Given the description of an element on the screen output the (x, y) to click on. 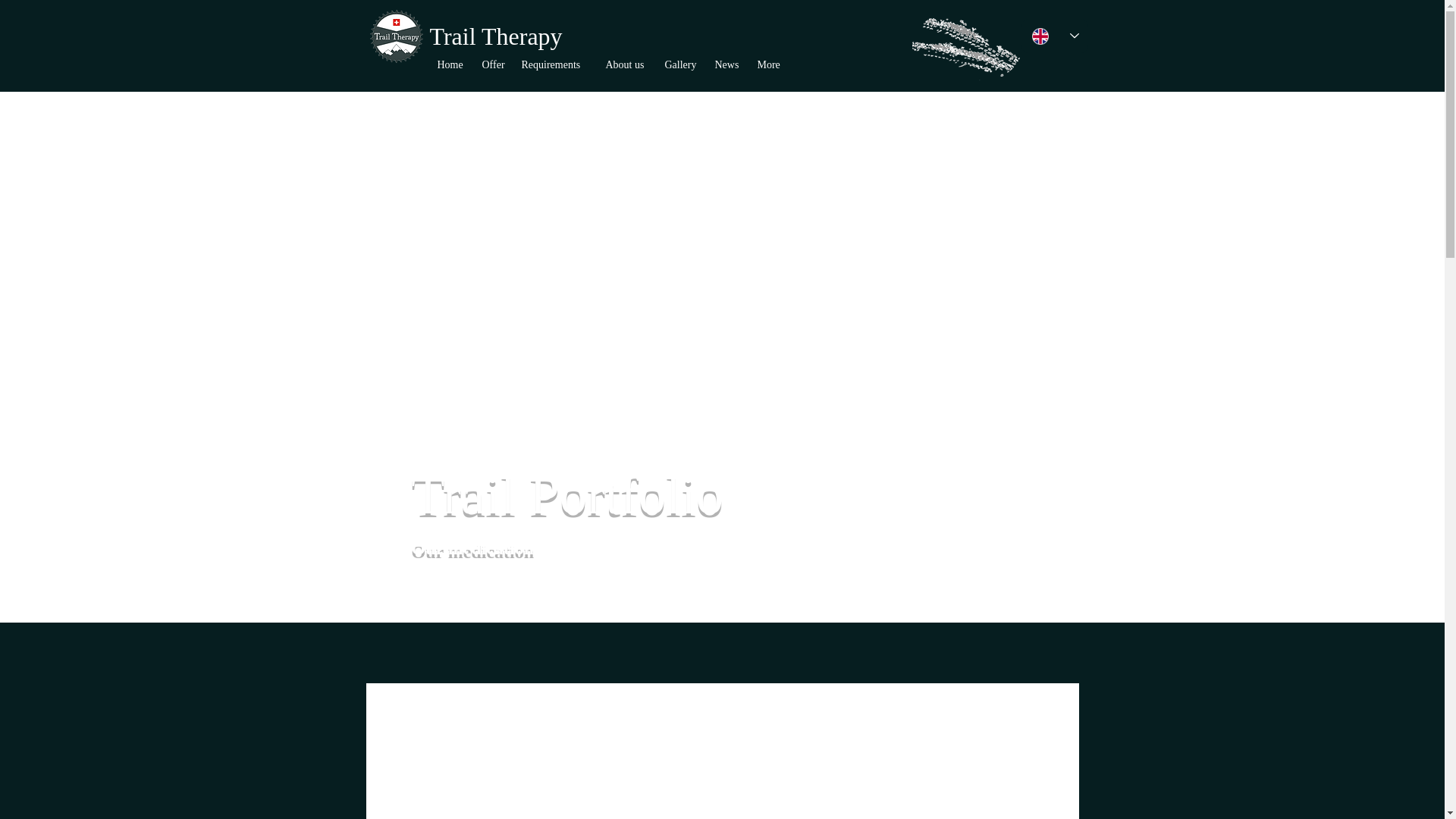
Home (451, 65)
News (727, 65)
Offer (493, 65)
Gallery (681, 65)
